Given the description of an element on the screen output the (x, y) to click on. 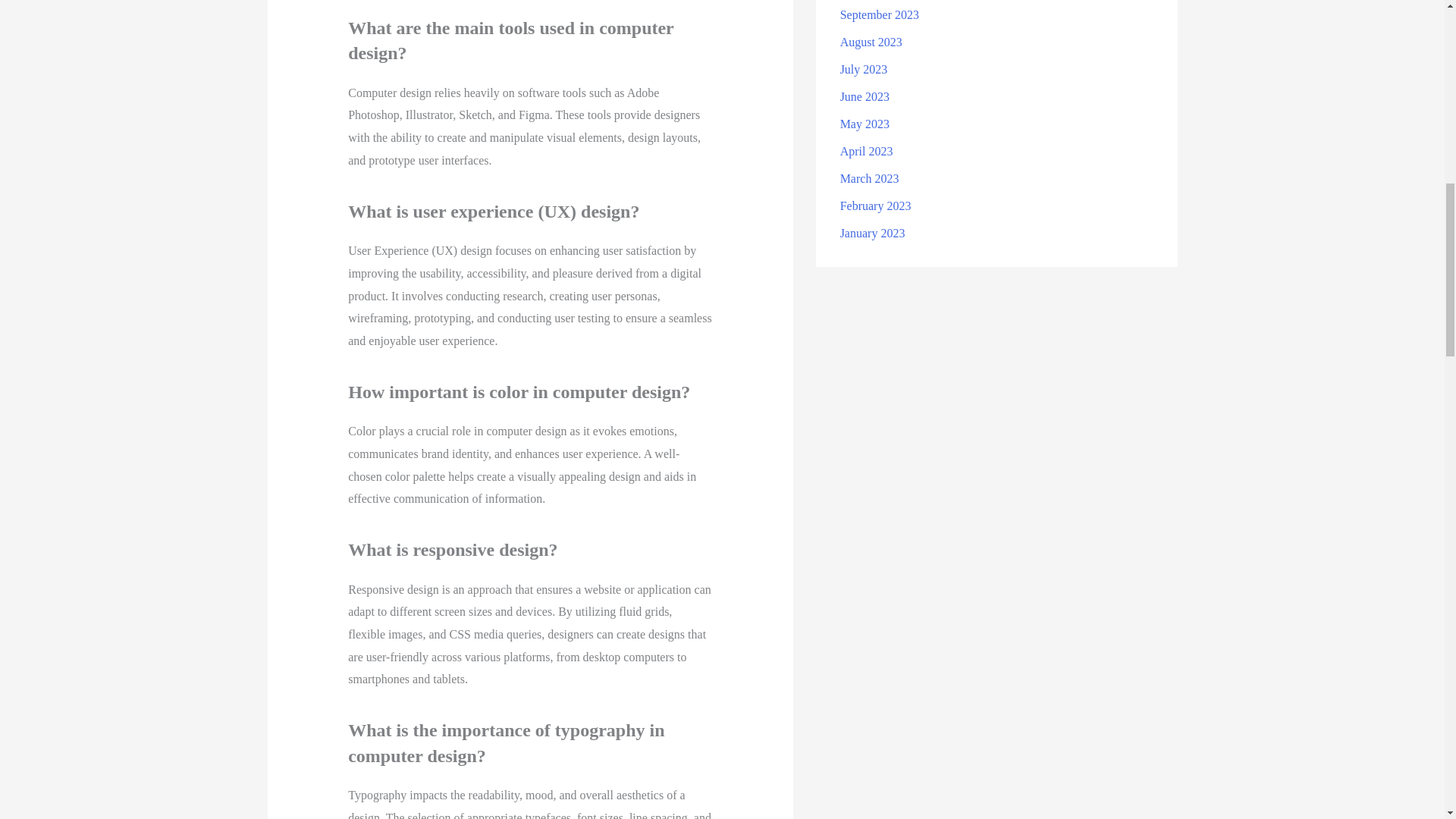
September 2023 (879, 14)
August 2023 (871, 42)
June 2023 (864, 96)
July 2023 (864, 69)
